Given the description of an element on the screen output the (x, y) to click on. 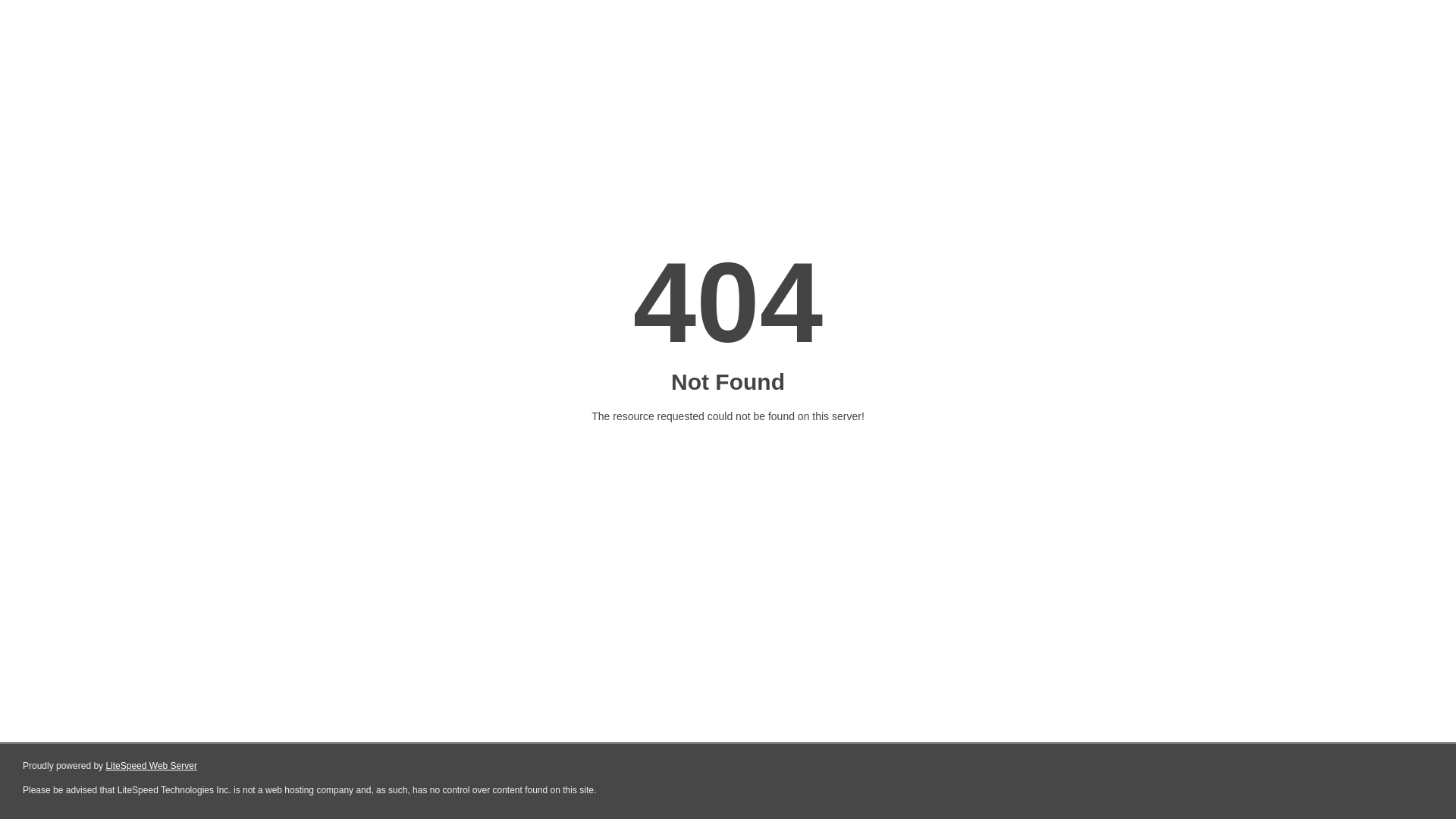
LiteSpeed Web Server Element type: text (151, 765)
